Given the description of an element on the screen output the (x, y) to click on. 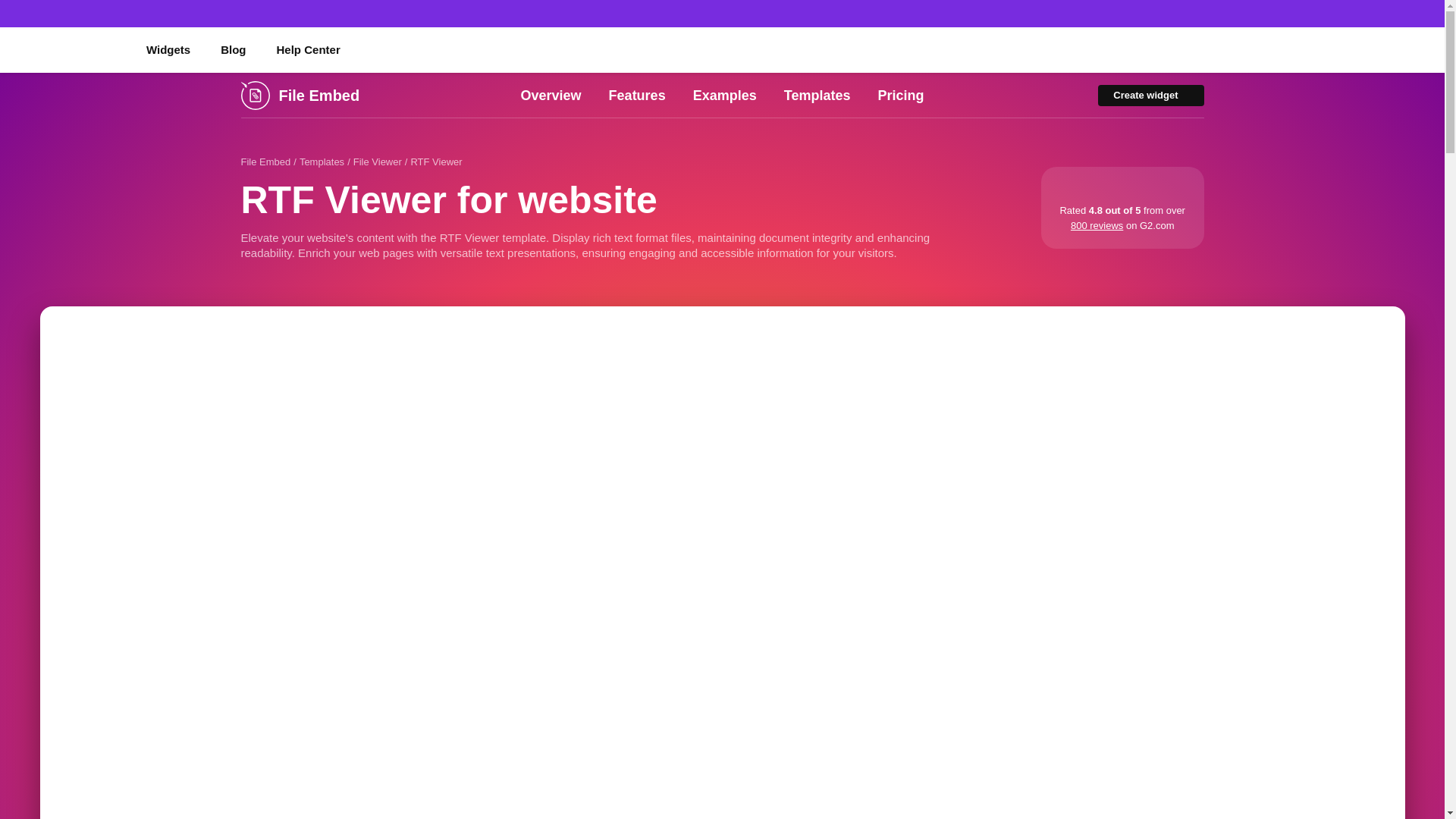
Full Screen (1381, 329)
Elfsight - Premium Plugins For Websites (66, 49)
Widgets (168, 49)
